Given the description of an element on the screen output the (x, y) to click on. 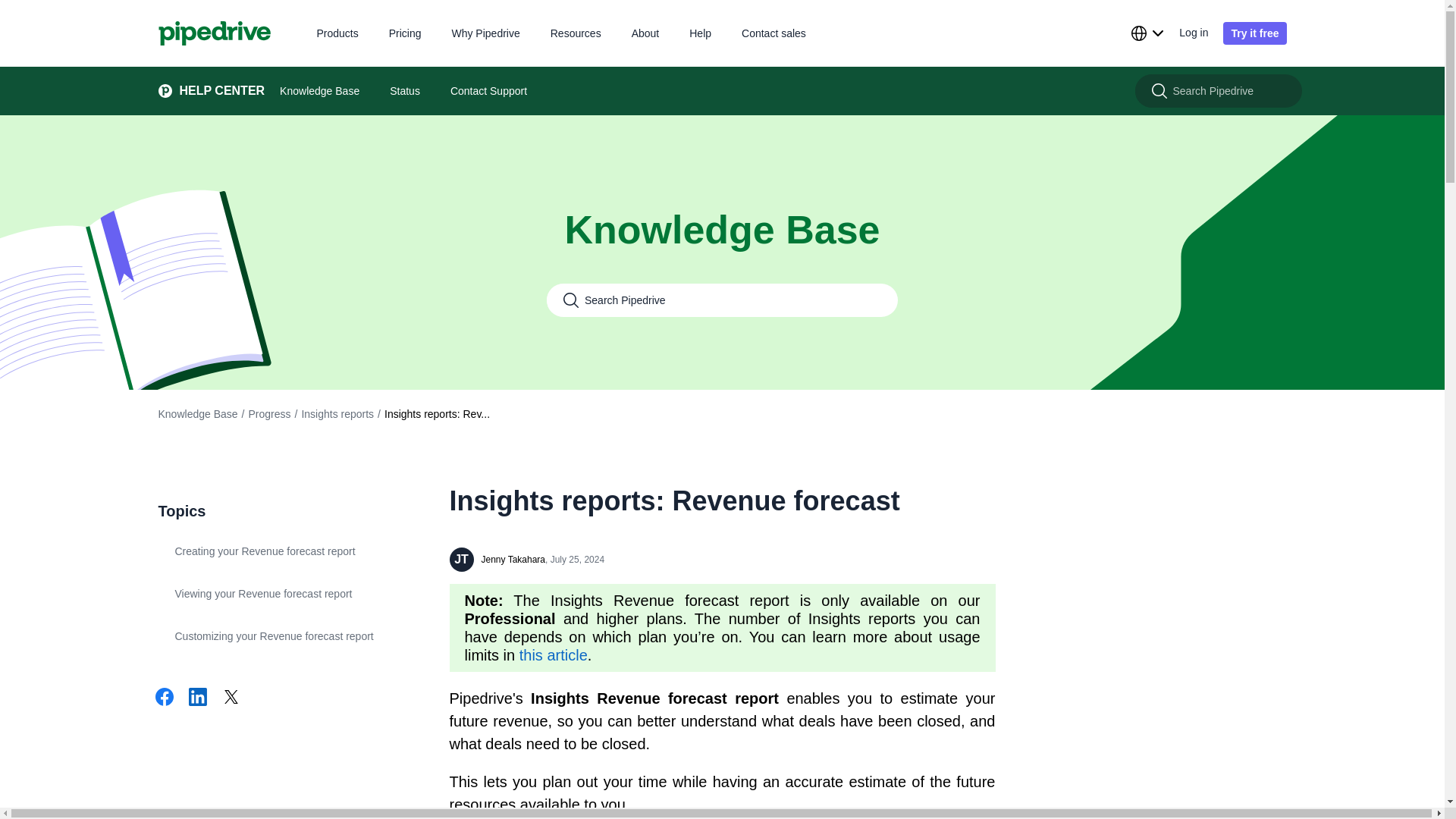
Try it free (1254, 33)
Contact Support (488, 90)
Status (404, 90)
Pricing (405, 32)
HELP CENTER (203, 90)
Progress (268, 413)
Contact sales (773, 32)
About (645, 32)
Resources (575, 32)
Knowledge Base (319, 90)
